Given the description of an element on the screen output the (x, y) to click on. 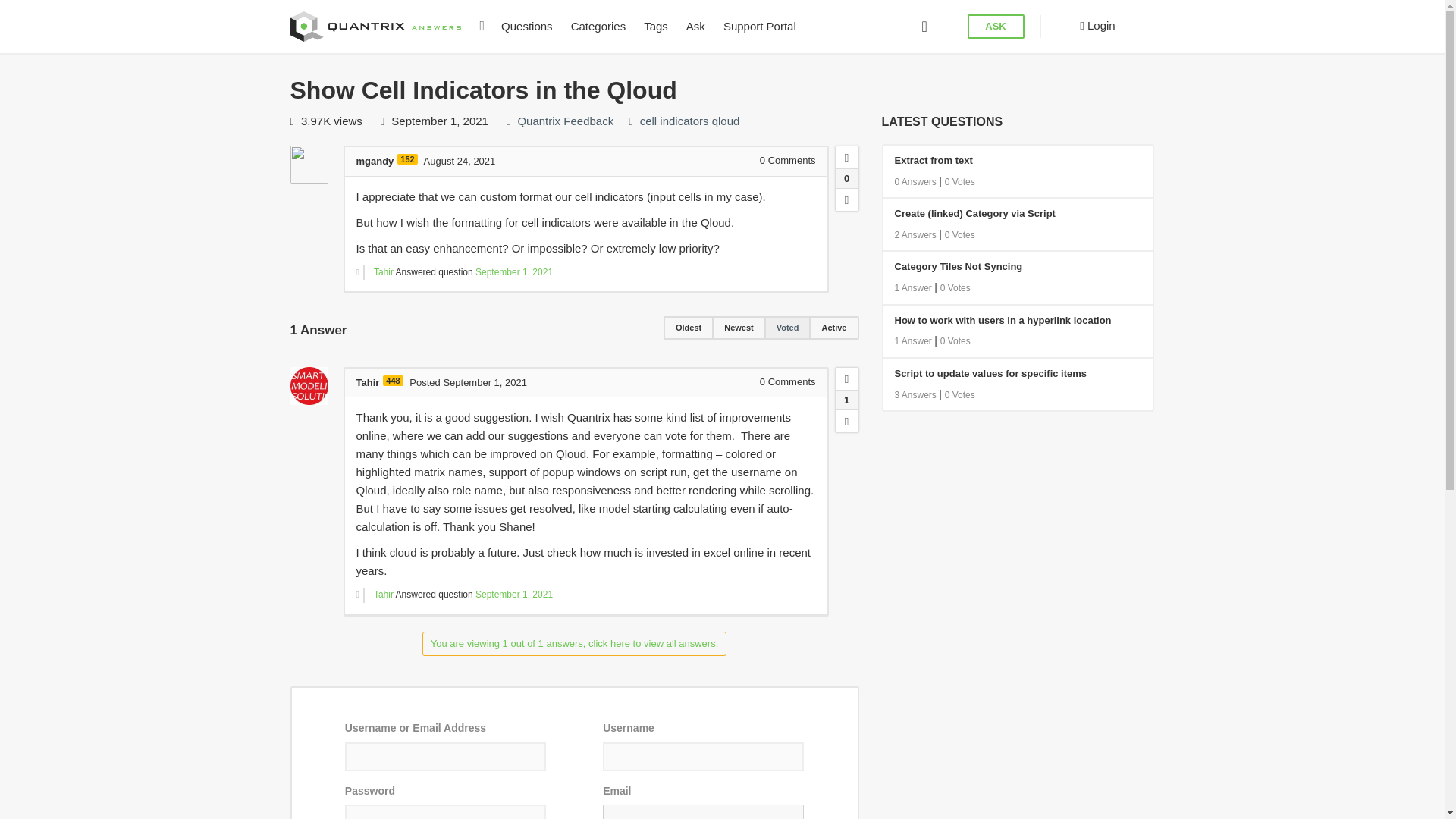
Questions (527, 26)
Ask (695, 26)
Down vote this post (847, 420)
Up vote this post (847, 378)
Support Portal (759, 26)
Up vote this post (847, 157)
Tags (655, 26)
Tags (655, 26)
Ask (695, 26)
Reputation (392, 380)
ASK (996, 26)
Support Portal (759, 26)
Quantrix Answers (380, 24)
Down vote this post (847, 199)
Reputation (406, 158)
